Given the description of an element on the screen output the (x, y) to click on. 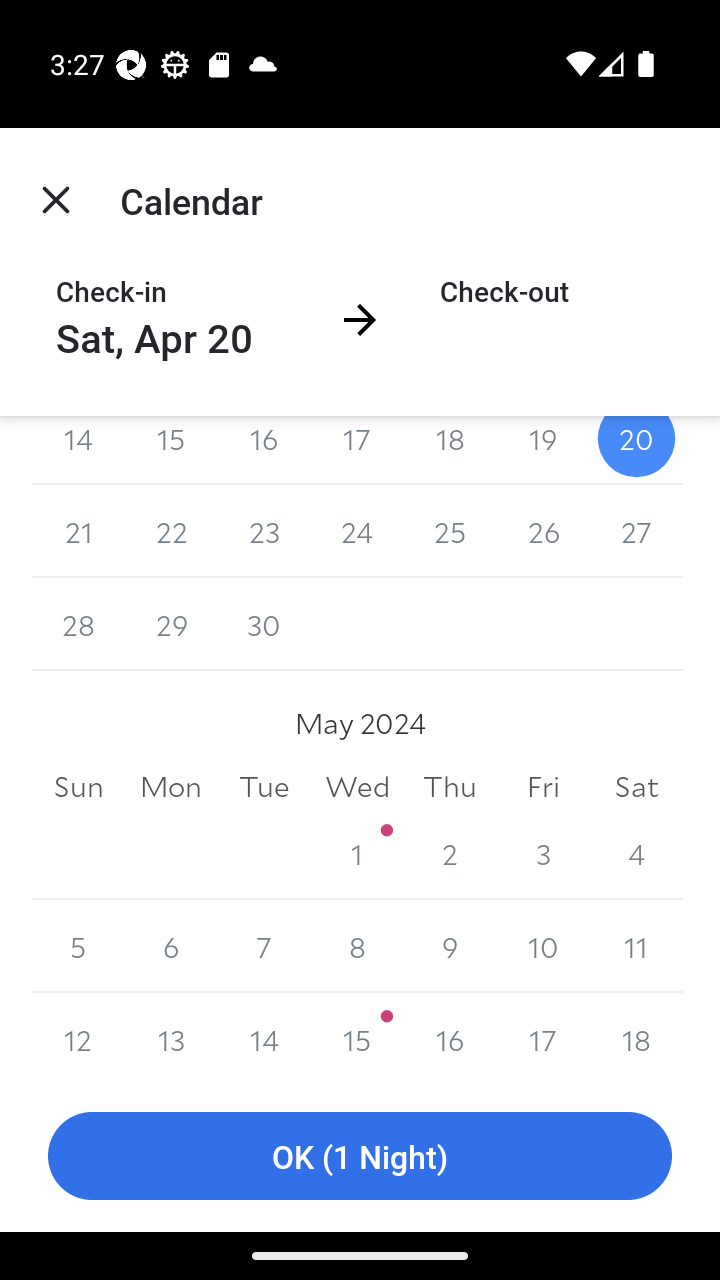
14 14 April 2024 (78, 450)
15 15 April 2024 (171, 450)
16 16 April 2024 (264, 450)
17 17 April 2024 (357, 450)
18 18 April 2024 (449, 450)
19 19 April 2024 (542, 450)
20 20 April 2024 (636, 450)
21 21 April 2024 (78, 531)
22 22 April 2024 (171, 531)
23 23 April 2024 (264, 531)
24 24 April 2024 (357, 531)
25 25 April 2024 (449, 531)
26 26 April 2024 (542, 531)
27 27 April 2024 (636, 531)
28 28 April 2024 (78, 624)
29 29 April 2024 (171, 624)
30 30 April 2024 (264, 624)
2 2 April 2024 (449, 624)
Sun (78, 785)
Mon (171, 785)
Tue (264, 785)
Wed (357, 785)
Thu (449, 785)
Fri (542, 785)
Sat (636, 785)
1 1 May 2024 (357, 852)
2 2 May 2024 (449, 852)
3 3 May 2024 (542, 852)
4 4 May 2024 (636, 852)
5 5 May 2024 (78, 946)
6 6 May 2024 (171, 946)
7 7 May 2024 (264, 946)
8 8 May 2024 (357, 946)
9 9 May 2024 (449, 946)
10 10 May 2024 (542, 946)
11 11 May 2024 (636, 946)
12 12 May 2024 (78, 1036)
13 13 May 2024 (171, 1036)
14 14 May 2024 (264, 1036)
15 15 May 2024 (357, 1036)
16 16 May 2024 (449, 1036)
17 17 May 2024 (542, 1036)
18 18 May 2024 (636, 1036)
OK (1 Night) (359, 1156)
